Given the description of an element on the screen output the (x, y) to click on. 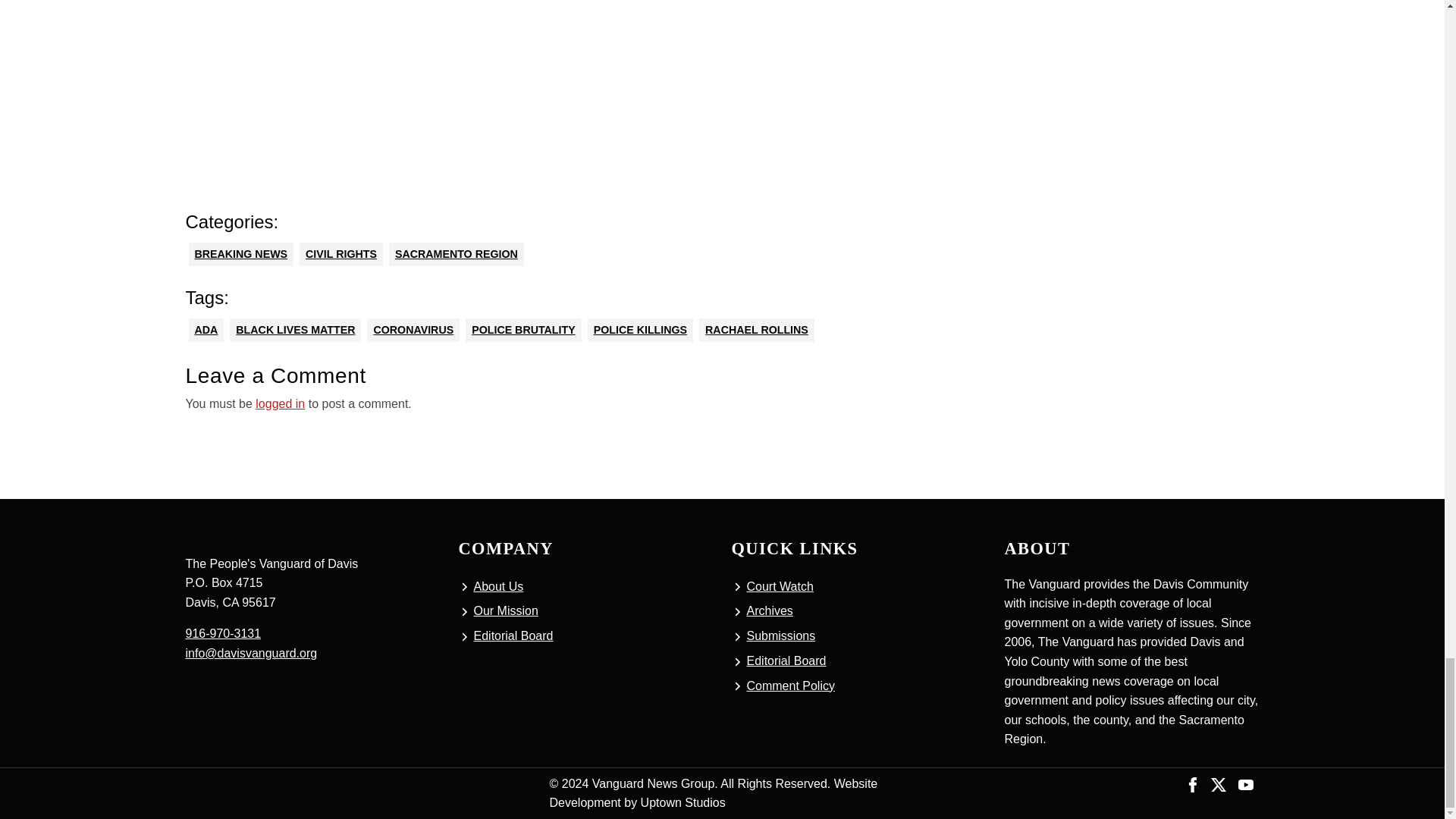
YouTube (1245, 783)
Twitter (1218, 783)
Facebook (1192, 783)
